Given the description of an element on the screen output the (x, y) to click on. 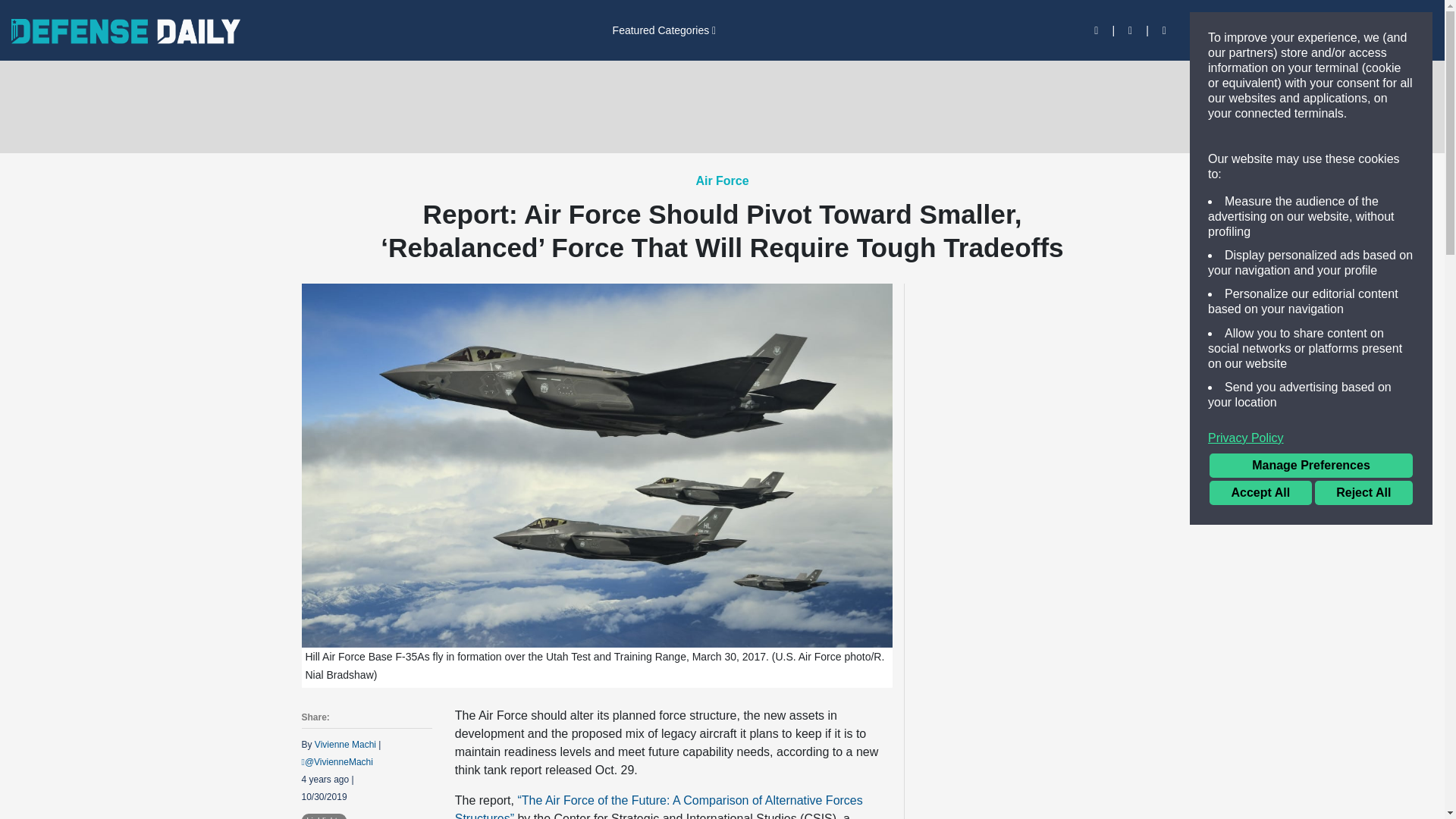
Air Force (721, 180)
Signup (1257, 30)
Privacy Policy (1310, 437)
Reject All (1363, 492)
Manage Preferences (1310, 465)
Accept All (1260, 492)
